Given the description of an element on the screen output the (x, y) to click on. 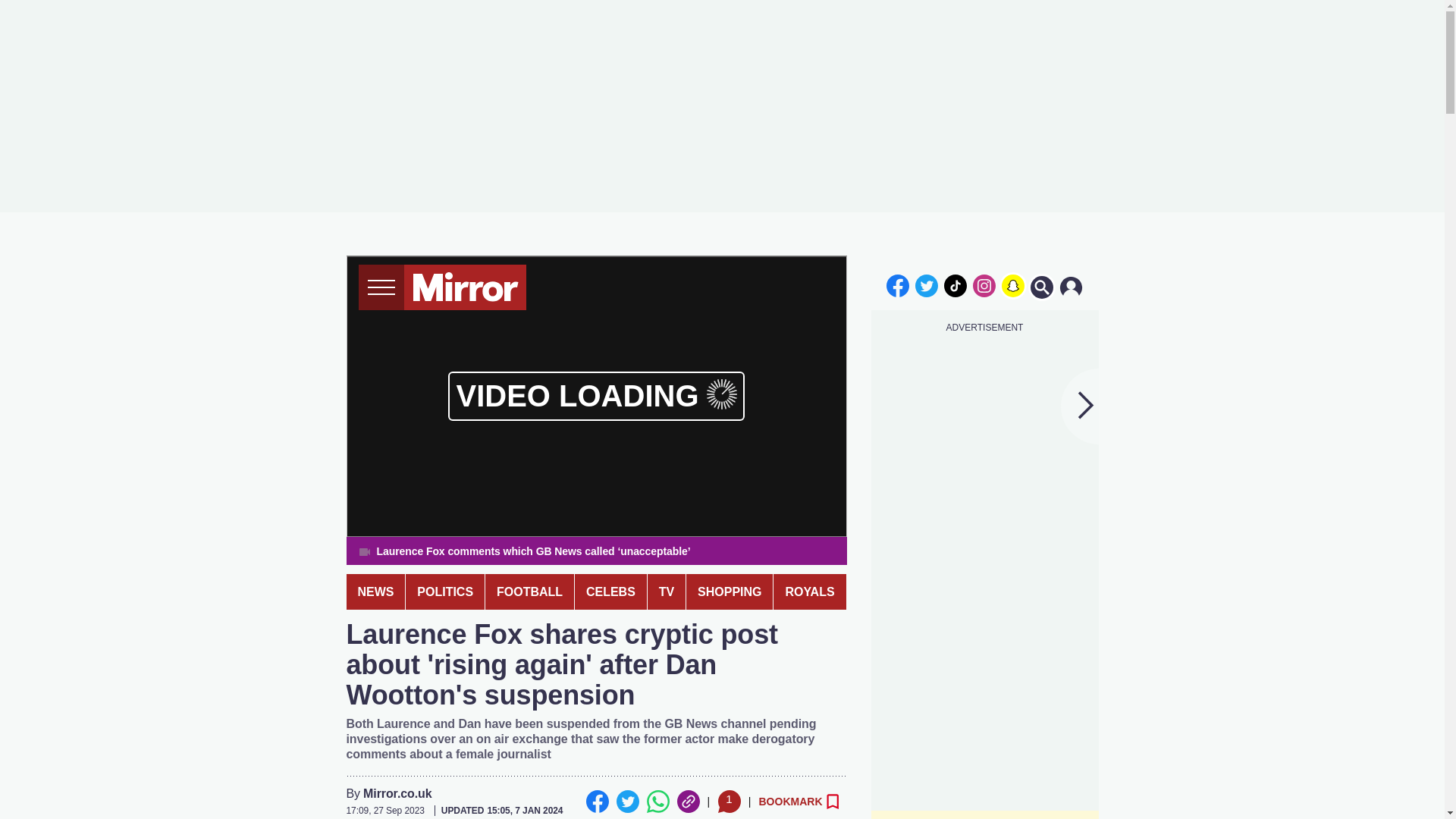
facebook (897, 285)
Facebook (596, 801)
instagram (984, 285)
Twitter (627, 801)
tiktok (955, 285)
snapchat (1012, 285)
twitter (926, 285)
